Given the description of an element on the screen output the (x, y) to click on. 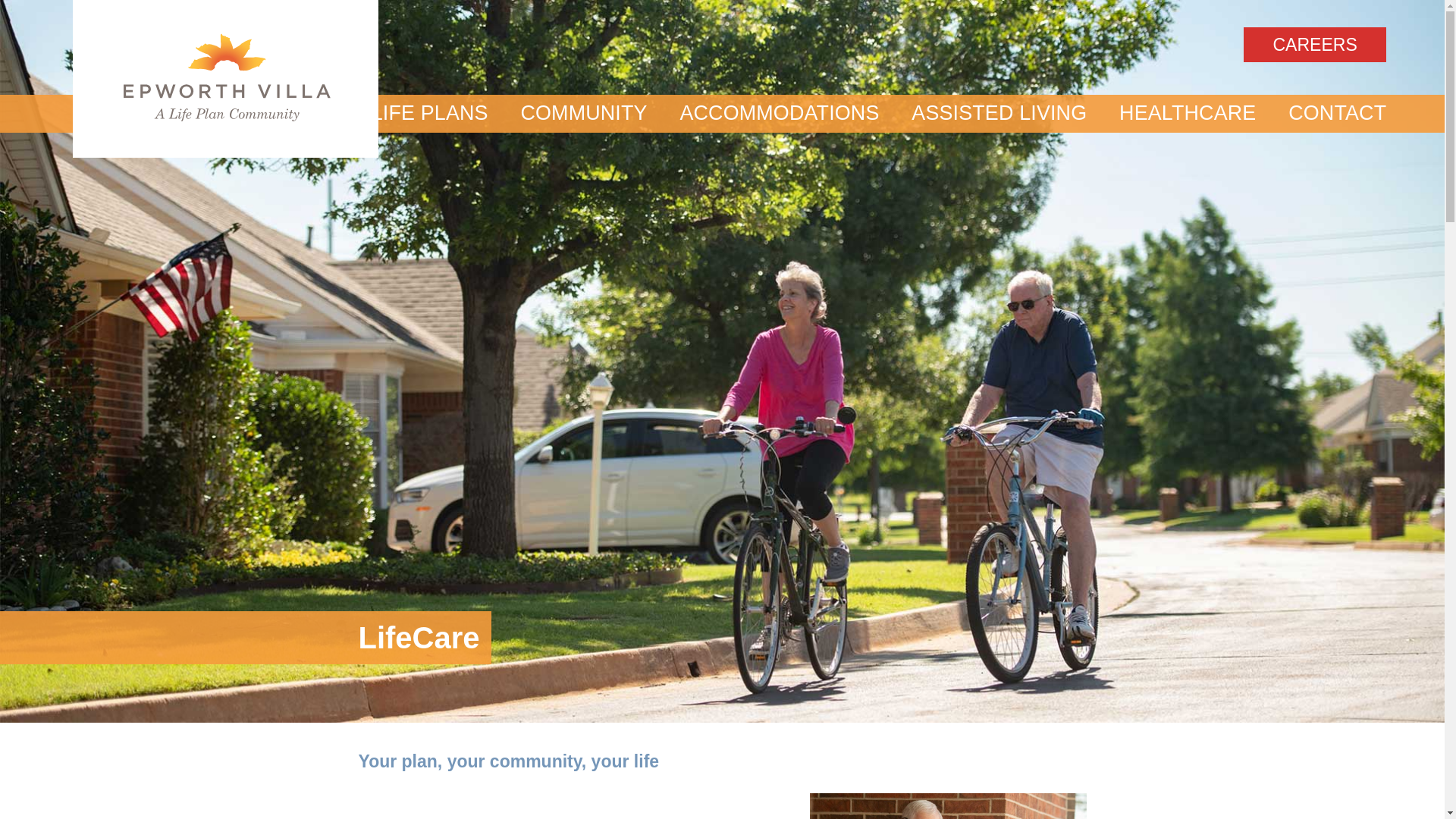
ASSISTED LIVING (998, 113)
COMMUNITY (583, 113)
ACCOMMODATIONS (779, 113)
CONTACT (1337, 113)
CAREERS (1314, 44)
LIFE PLANS (429, 113)
HEALTHCARE (1188, 113)
